Given the description of an element on the screen output the (x, y) to click on. 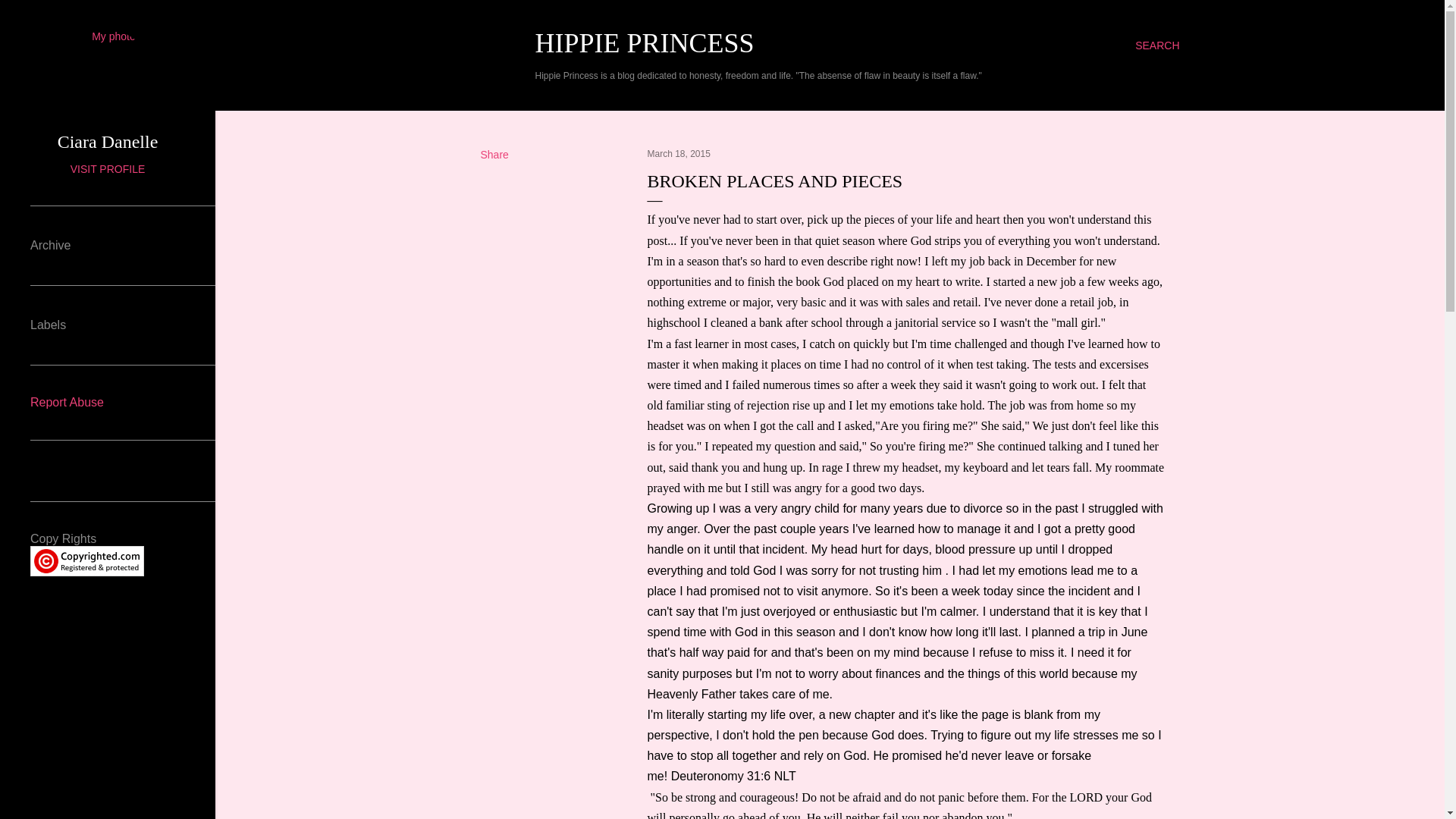
March 18, 2015 (678, 153)
SEARCH (1157, 45)
Ciara Danelle (107, 141)
Share (494, 154)
permanent link (678, 153)
VISIT PROFILE (107, 168)
HIPPIE PRINCESS (644, 42)
